Given the description of an element on the screen output the (x, y) to click on. 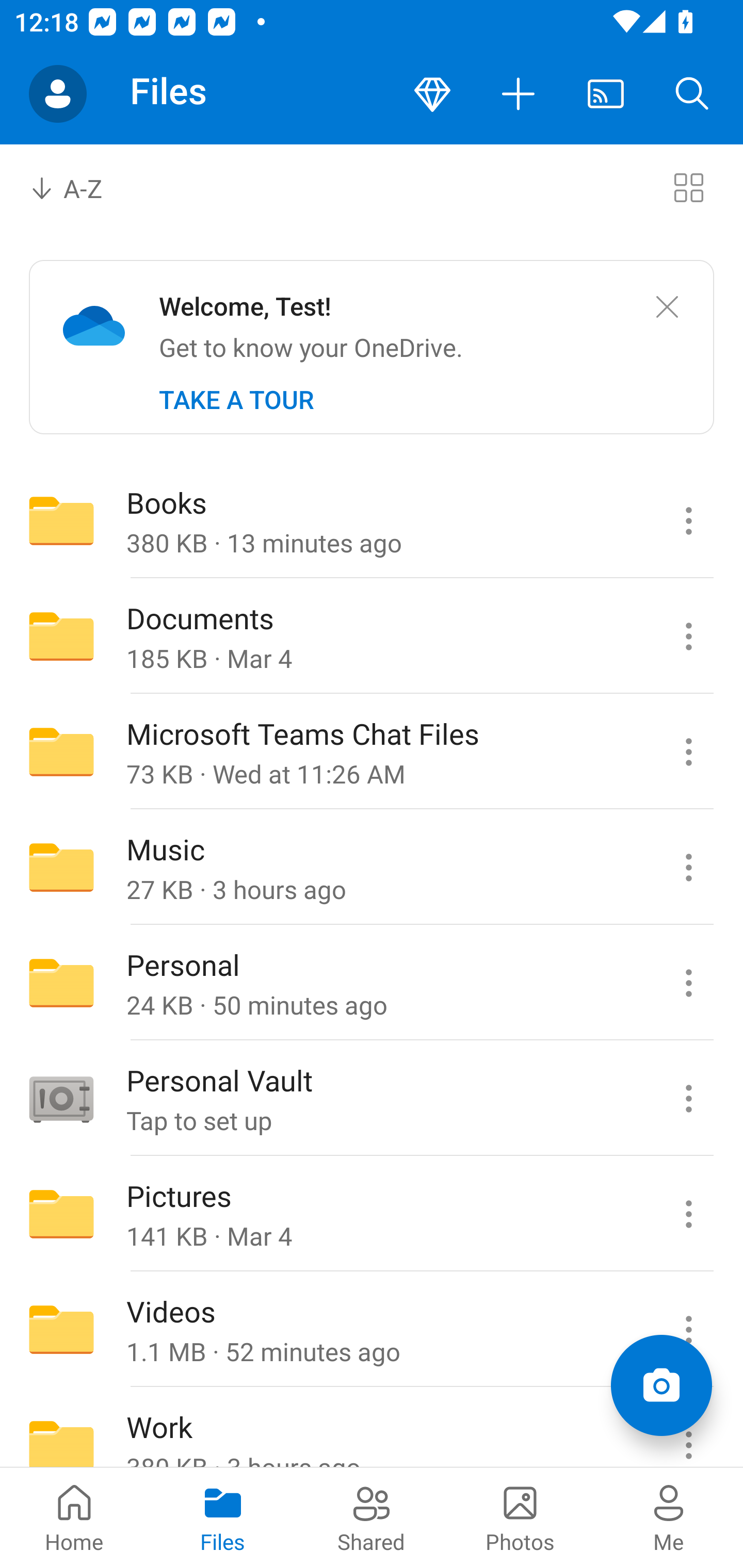
Account switcher (57, 93)
Cast. Disconnected (605, 93)
Premium button (432, 93)
More actions button (518, 93)
Search button (692, 93)
A-Z Sort by combo box, sort by name, A to Z (80, 187)
Switch to tiles view (688, 187)
Close (667, 307)
TAKE A TOUR (236, 399)
Books commands (688, 520)
Folder Documents 185 KB · Mar 4 Documents commands (371, 636)
Documents commands (688, 636)
Microsoft Teams Chat Files commands (688, 751)
Folder Music 27 KB · 3 hours ago Music commands (371, 867)
Music commands (688, 867)
Personal commands (688, 983)
Personal Vault commands (688, 1099)
Folder Pictures 141 KB · Mar 4 Pictures commands (371, 1214)
Pictures commands (688, 1214)
Videos commands (688, 1329)
Add items Scan (660, 1385)
Folder Work 380 KB · 3 hours ago Work commands (371, 1427)
Work commands (688, 1427)
Home pivot Home (74, 1517)
Shared pivot Shared (371, 1517)
Photos pivot Photos (519, 1517)
Me pivot Me (668, 1517)
